Given the description of an element on the screen output the (x, y) to click on. 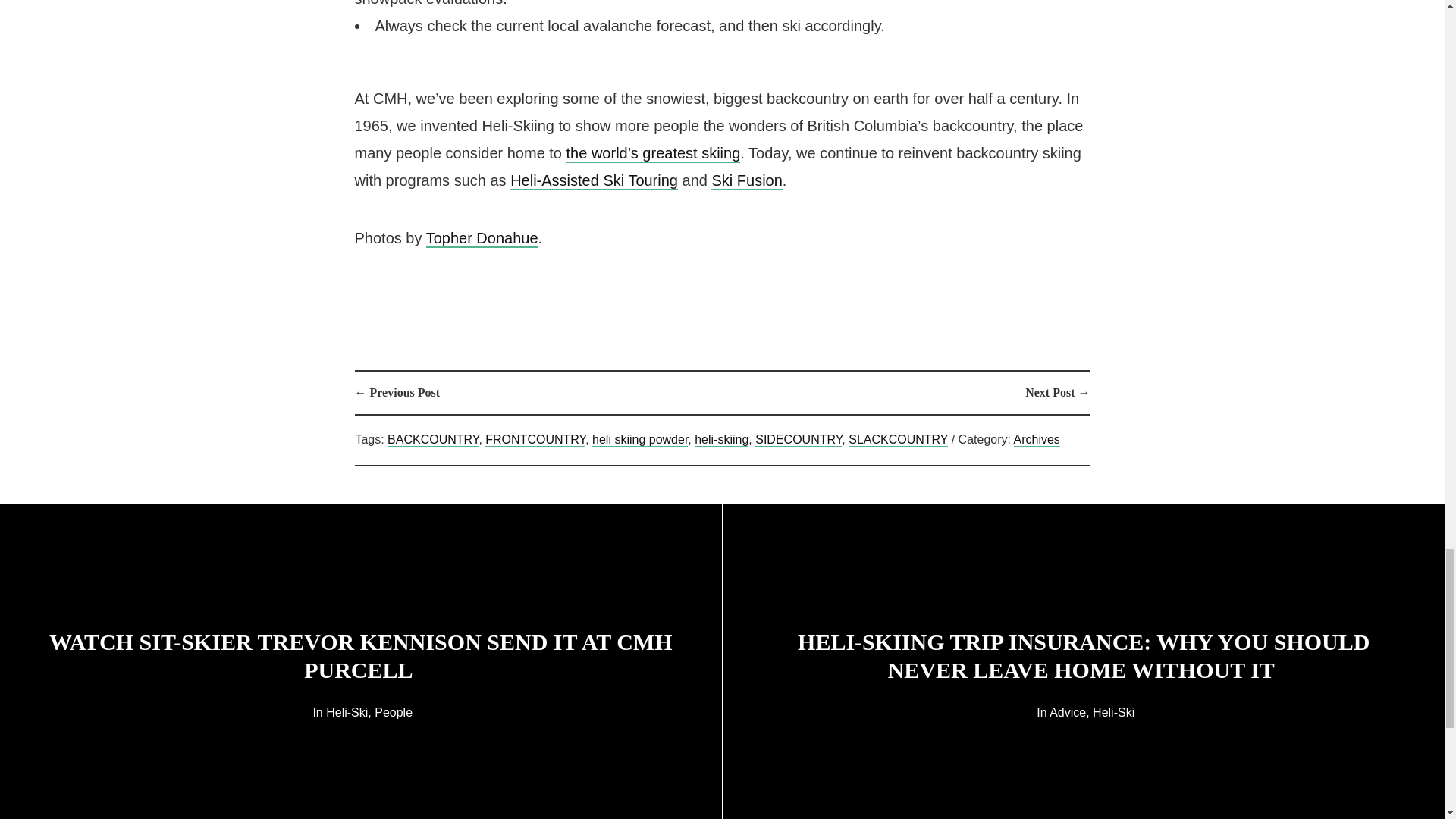
SIDECOUNTRY (798, 440)
Archives (1036, 440)
Heli-Assisted Ski Touring (594, 180)
Topher Donahue (482, 239)
Topher Donahue (482, 239)
BACKCOUNTRY (433, 440)
Ski Fusion (746, 180)
WATCH SIT-SKIER TREVOR KENNISON SEND IT AT CMH PURCELL  (360, 655)
People (393, 711)
Heli-Assisted Ski Touring (594, 180)
